Given the description of an element on the screen output the (x, y) to click on. 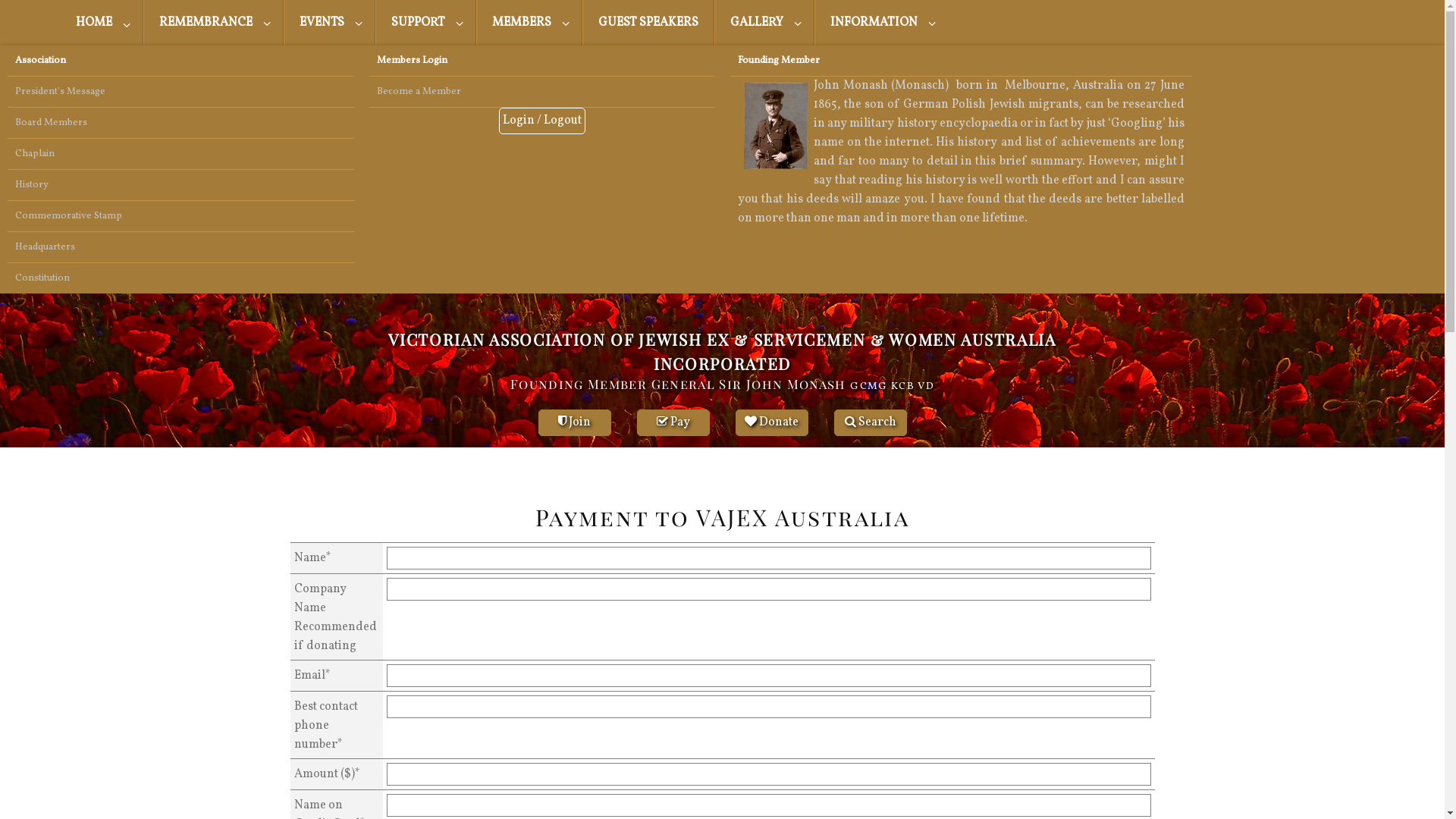
MEMBERS Element type: text (529, 22)
Board Members Element type: text (180, 122)
Become a Member Element type: text (541, 91)
Founding Member Element type: text (960, 60)
Association Element type: text (180, 60)
INFORMATION Element type: text (880, 22)
Commemorative Stamp Element type: text (180, 215)
EVENTS Element type: text (329, 22)
Members Login Element type: text (541, 60)
Headquarters Element type: text (180, 247)
GALLERY Element type: text (764, 22)
Login / Logout Element type: text (541, 120)
Search Element type: text (870, 422)
History Element type: text (180, 184)
HOME Element type: text (101, 22)
President's Message Element type: text (180, 91)
Pay Element type: text (673, 422)
REMEMBRANCE Element type: text (213, 22)
Join Element type: text (574, 422)
Chaplain Element type: text (180, 153)
Donate Element type: text (771, 422)
Constitution Element type: text (180, 278)
SUPPORT Element type: text (425, 22)
GUEST SPEAKERS Element type: text (648, 22)
